Given the description of an element on the screen output the (x, y) to click on. 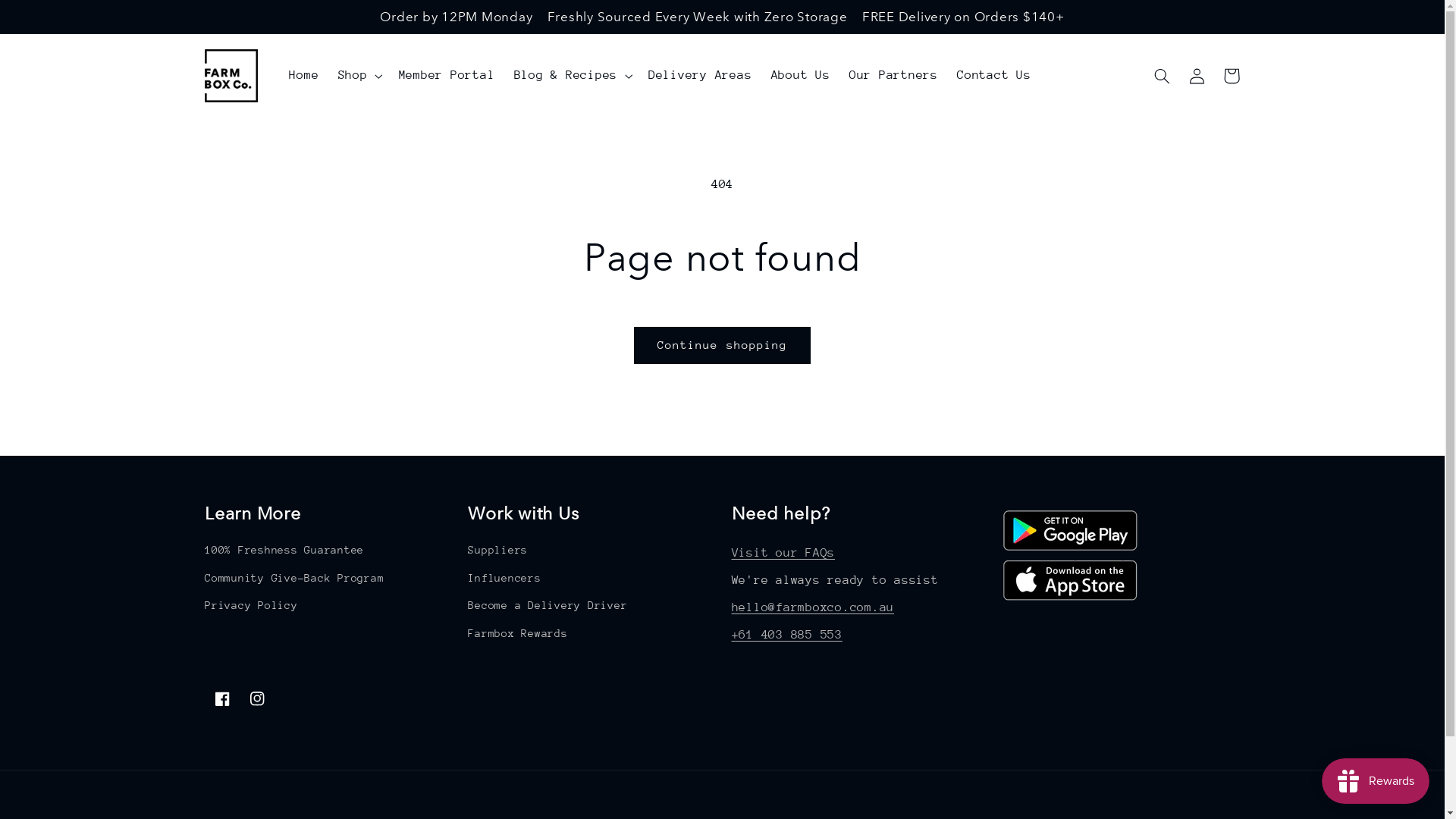
hello@farmboxco.com.au Element type: text (812, 607)
+61 403 885 553 Element type: text (786, 634)
Facebook Element type: text (221, 697)
Cart Element type: text (1231, 75)
Visit our FAQs Element type: text (782, 552)
Farmbox Rewards Element type: text (517, 632)
Smile.io Rewards Program Launcher Element type: hover (1375, 780)
Influencers Element type: text (503, 577)
100% Freshness Guarantee Element type: text (284, 552)
Contact Us Element type: text (993, 76)
Instagram Element type: text (256, 697)
Continue shopping Element type: text (722, 345)
About Us Element type: text (800, 76)
Privacy Policy Element type: text (251, 605)
Delivery Areas Element type: text (699, 76)
Community Give-Back Program Element type: text (293, 577)
Become a Delivery Driver Element type: text (547, 605)
Suppliers Element type: text (497, 552)
Log in Element type: text (1196, 75)
Home Element type: text (303, 76)
Our Partners Element type: text (893, 76)
Member Portal Element type: text (446, 76)
